Given the description of an element on the screen output the (x, y) to click on. 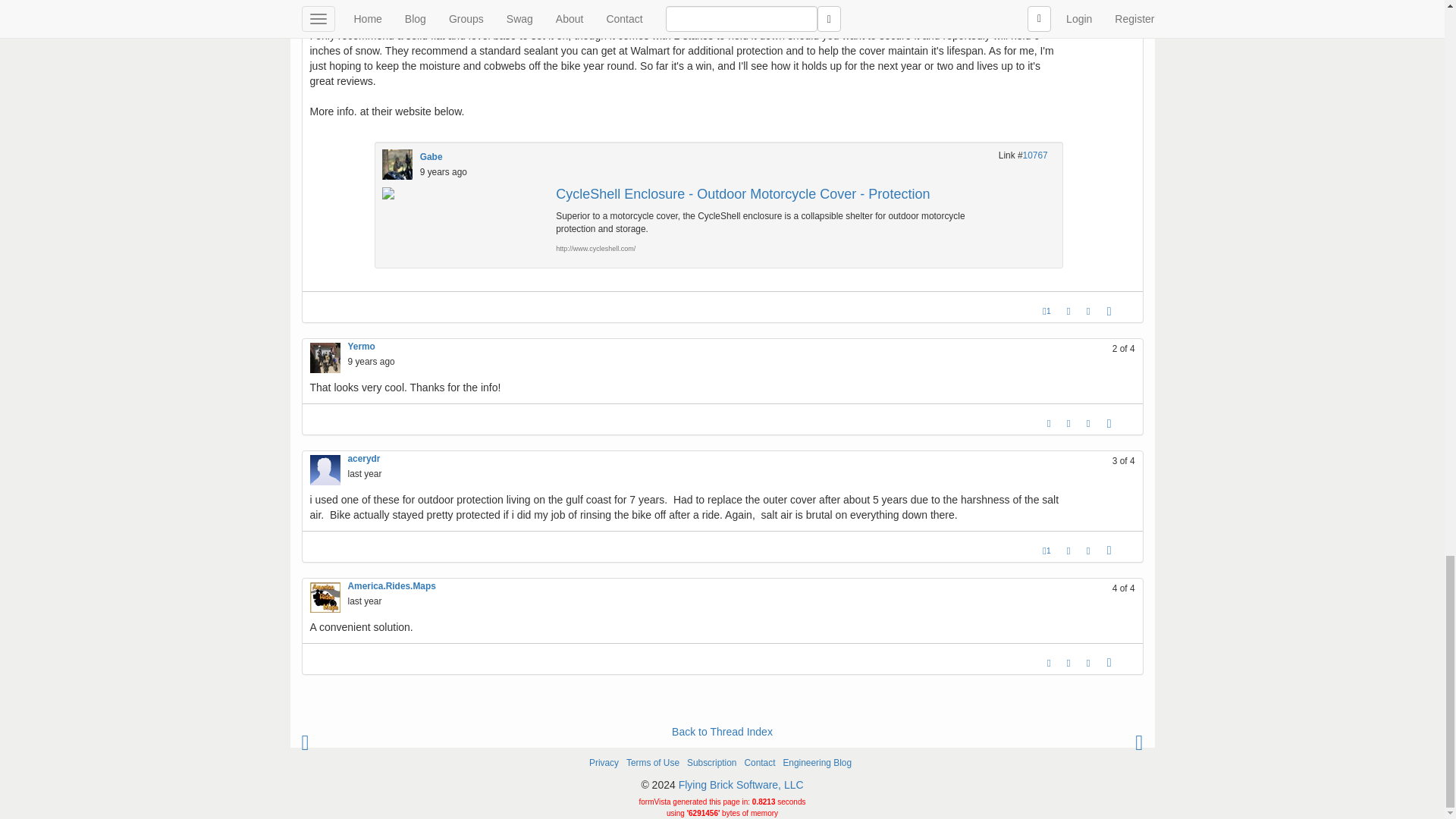
Share (1109, 662)
Share (1109, 549)
Share (1109, 310)
Share (1109, 422)
Tag (1068, 549)
Tag (1068, 310)
Tag (1068, 422)
Where this has been mentioned (1088, 310)
Where this has been mentioned (1088, 422)
Where this has been mentioned (1088, 549)
